Given the description of an element on the screen output the (x, y) to click on. 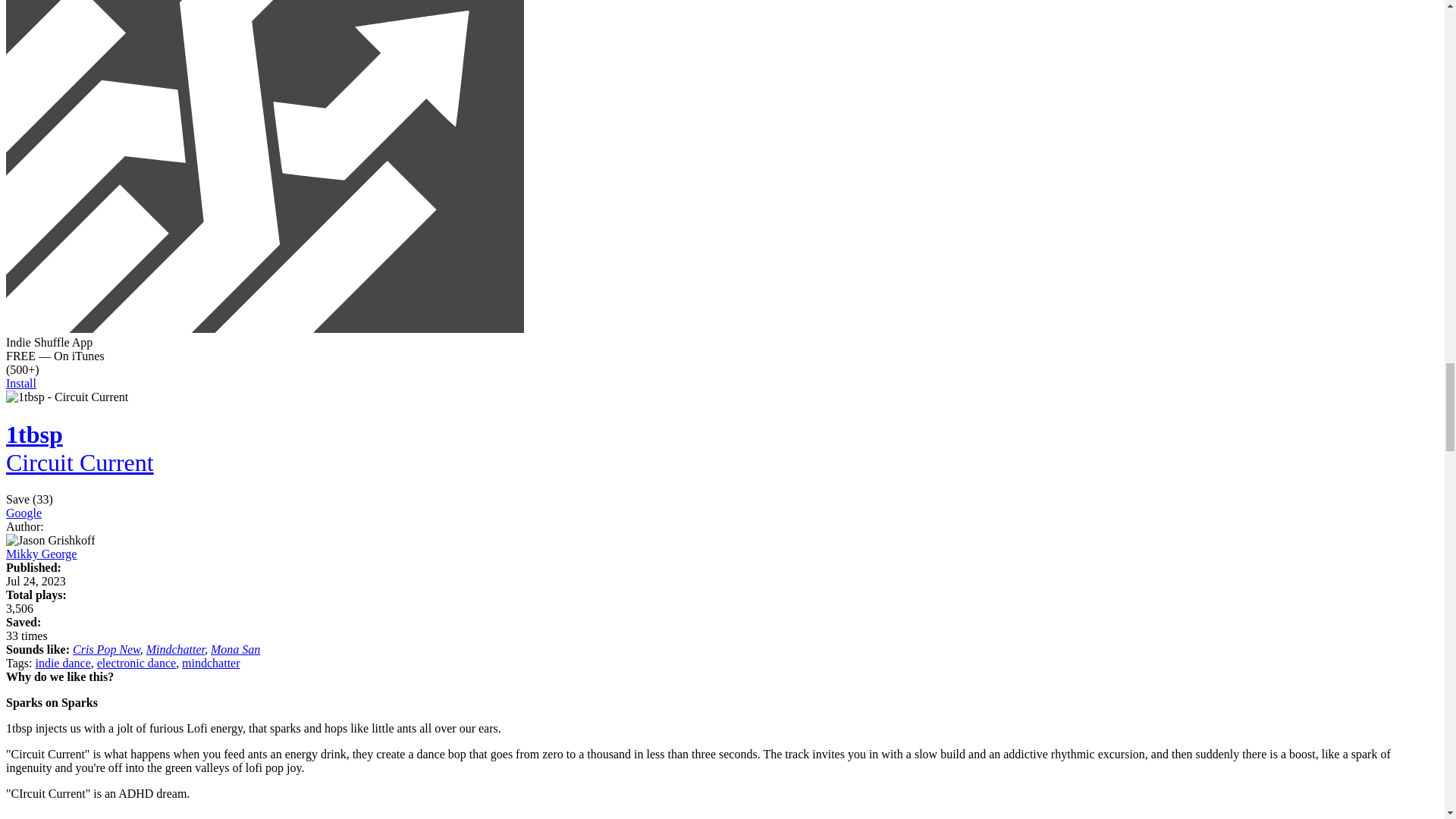
Electronic dance Songs (136, 662)
electronic dance (136, 662)
Google (23, 512)
Mona San (235, 649)
Indie dance Songs (62, 662)
indie dance (62, 662)
Install iPhone App (264, 328)
View chart (19, 608)
Mindchatter (176, 649)
mindchatter (211, 662)
